Given the description of an element on the screen output the (x, y) to click on. 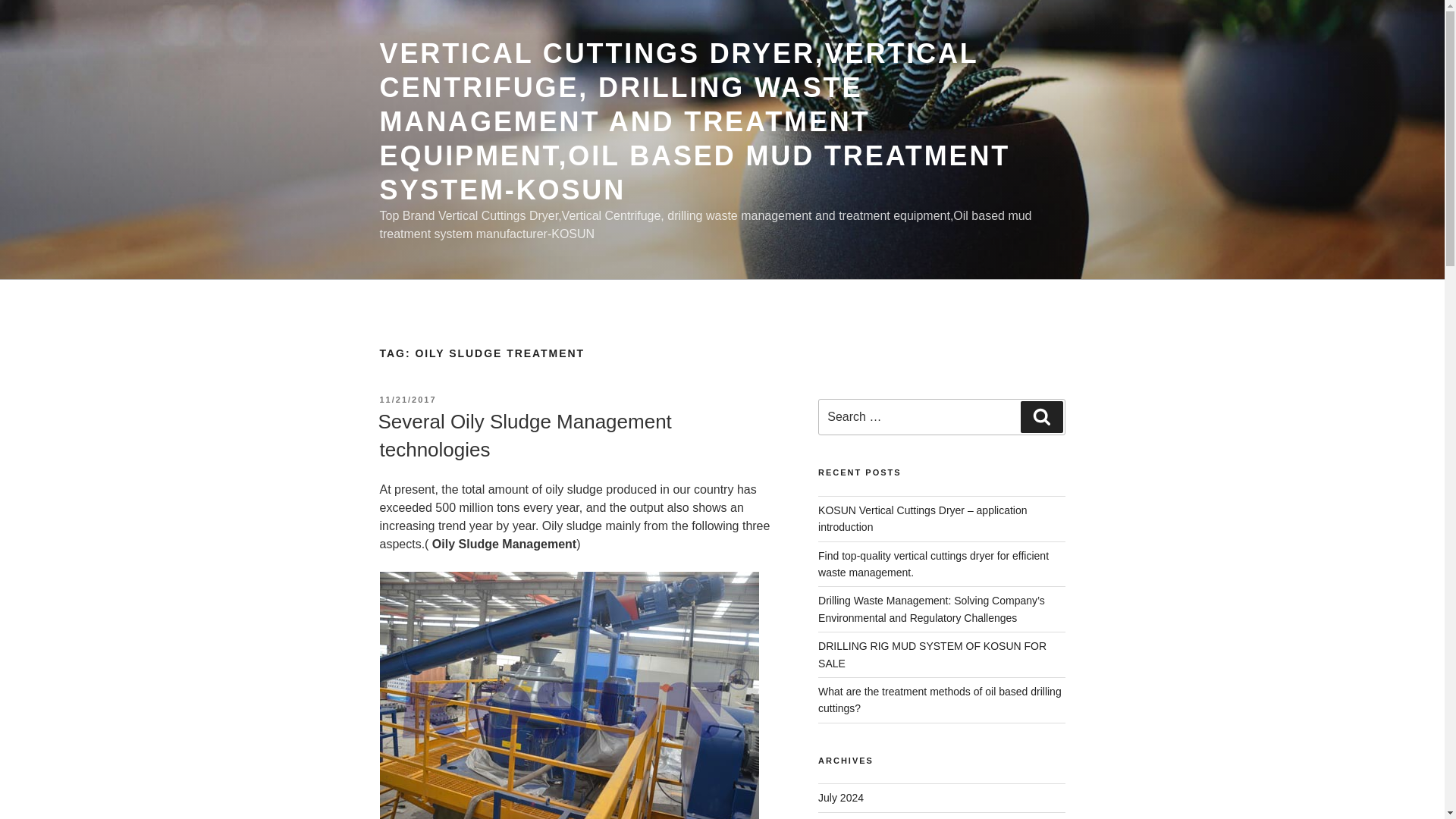
Search (1041, 417)
Several Oily Sludge Management technologies (524, 435)
DRILLING RIG MUD SYSTEM OF KOSUN FOR SALE (932, 654)
July 2024 (840, 797)
